Given the description of an element on the screen output the (x, y) to click on. 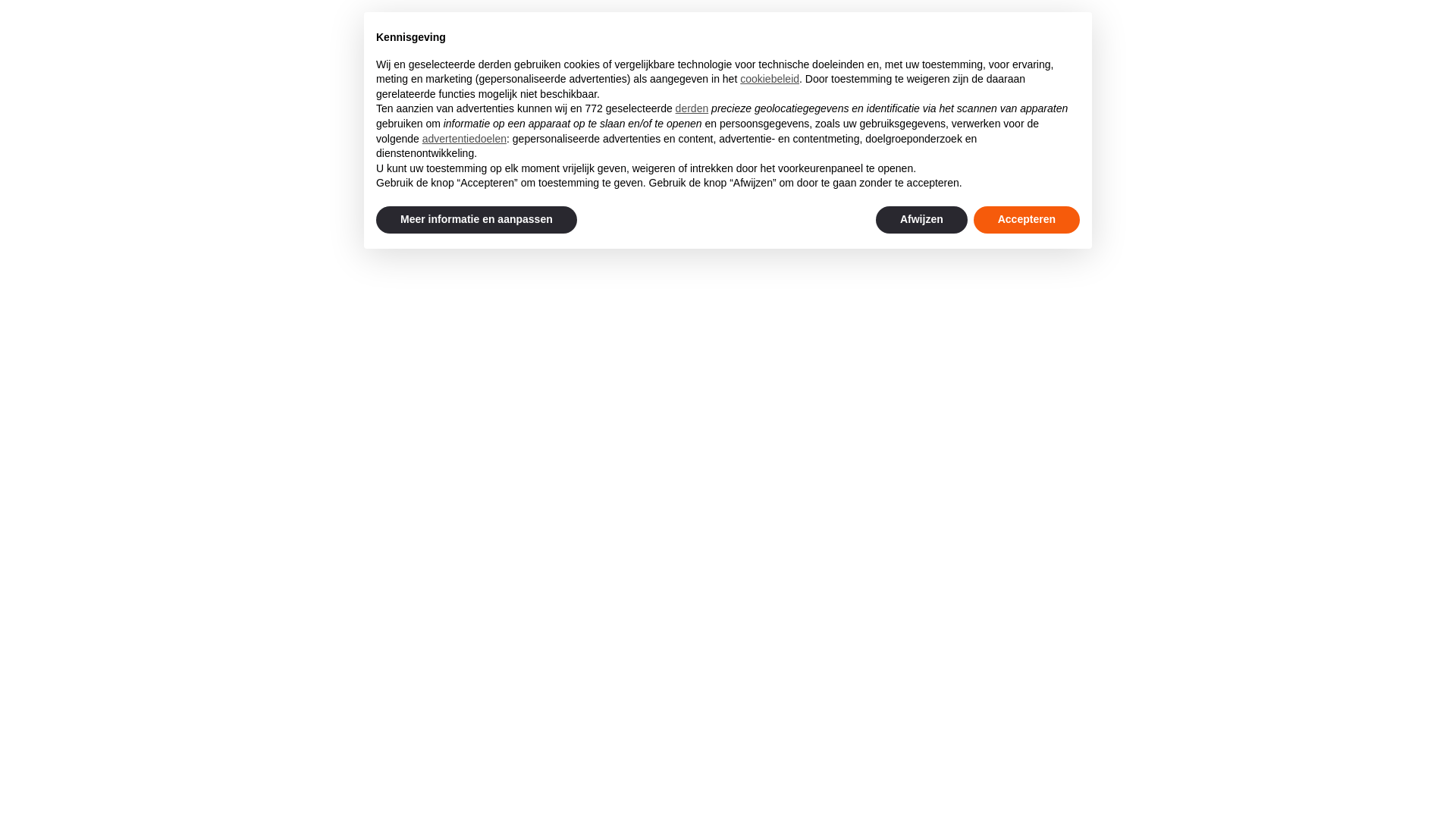
cookiebeleid Element type: text (769, 78)
Accepteren Element type: text (1026, 219)
derden Element type: text (692, 108)
Afwijzen Element type: text (921, 219)
advertentiedoelen Element type: text (464, 138)
Meer informatie en aanpassen Element type: text (476, 219)
